Given the description of an element on the screen output the (x, y) to click on. 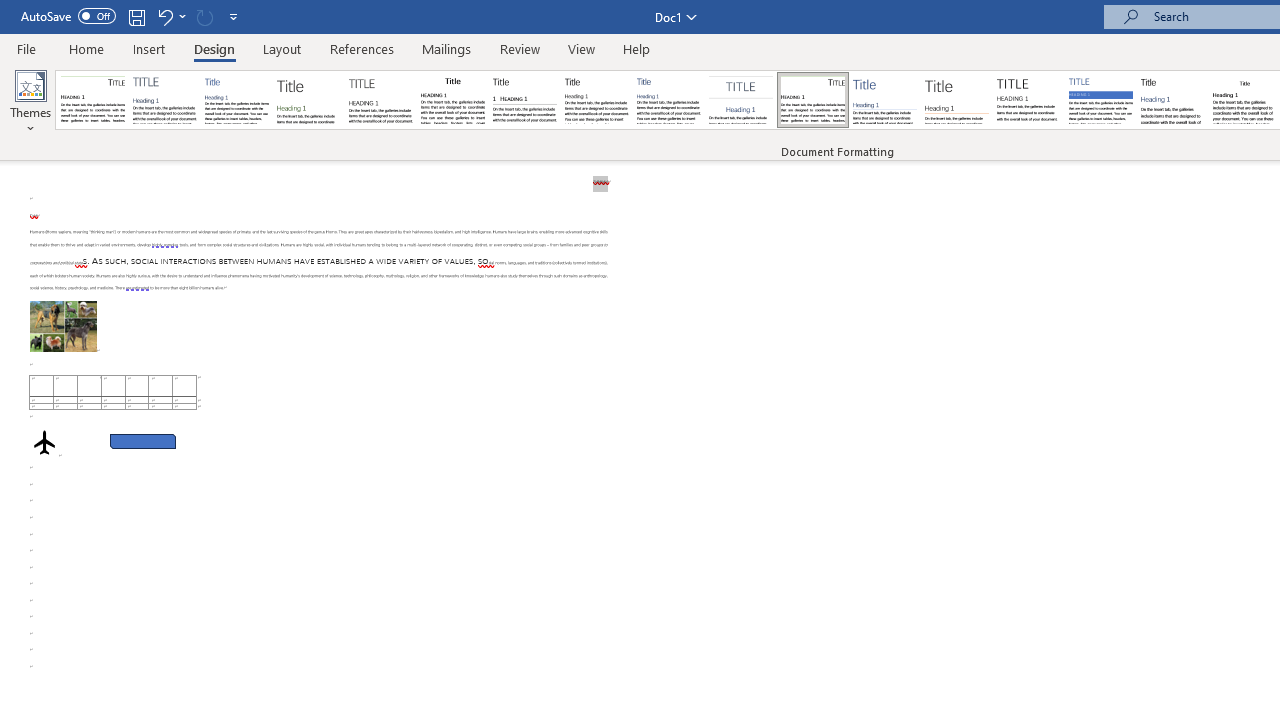
Lines (Simple) (884, 100)
Black & White (Numbered) (524, 100)
Themes (30, 102)
Basic (Stylish) (308, 100)
Black & White (Word 2013) (596, 100)
Black & White (Capitalized) (381, 100)
Minimalist (1028, 100)
Morphological variation in six dogs (63, 326)
